Given the description of an element on the screen output the (x, y) to click on. 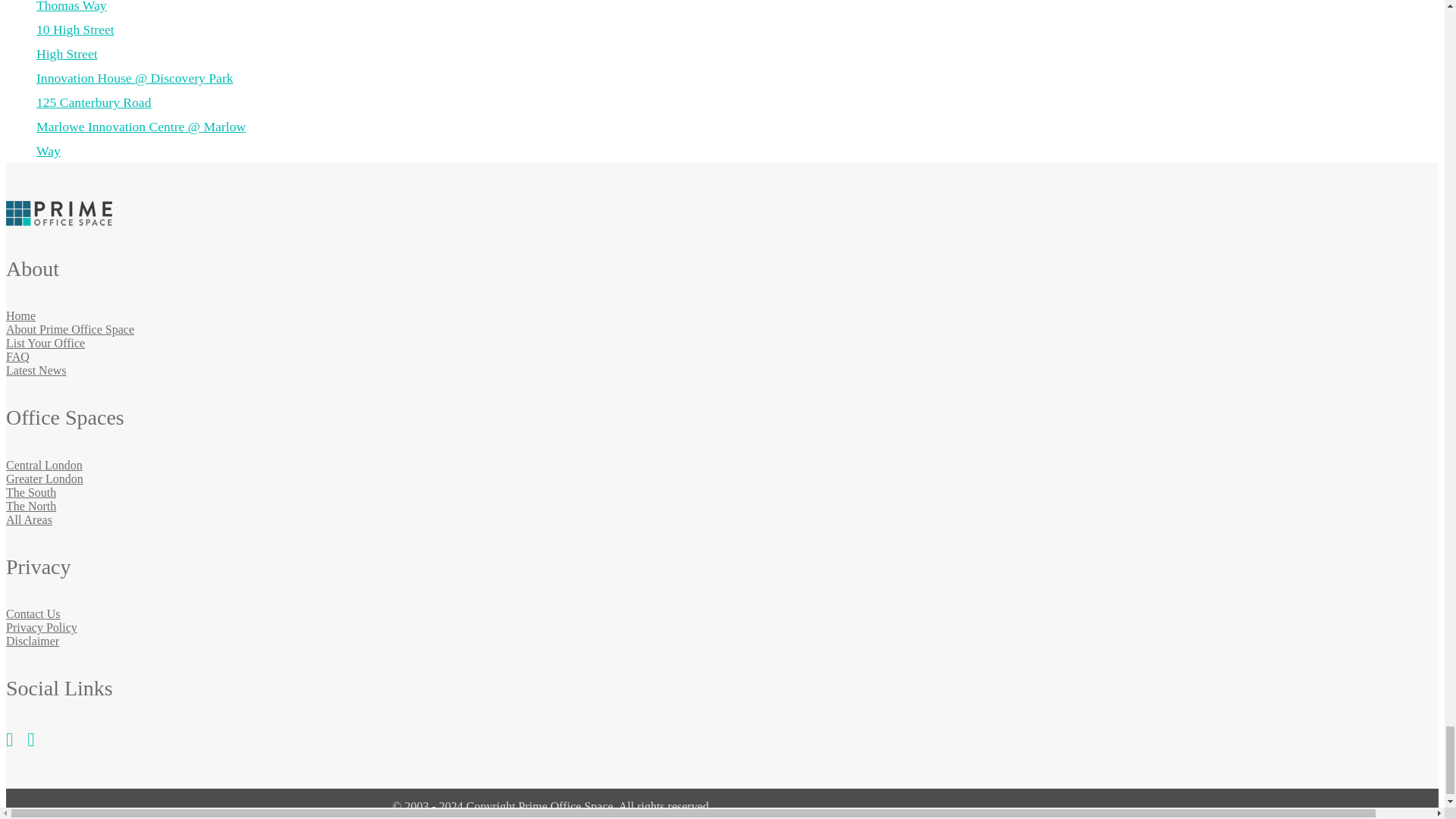
About Prime Office Space (69, 328)
Thomas Way (71, 6)
High Street (66, 53)
125 Canterbury Road (93, 102)
10 High Street (75, 29)
Home (19, 315)
List Your Office (44, 342)
